Given the description of an element on the screen output the (x, y) to click on. 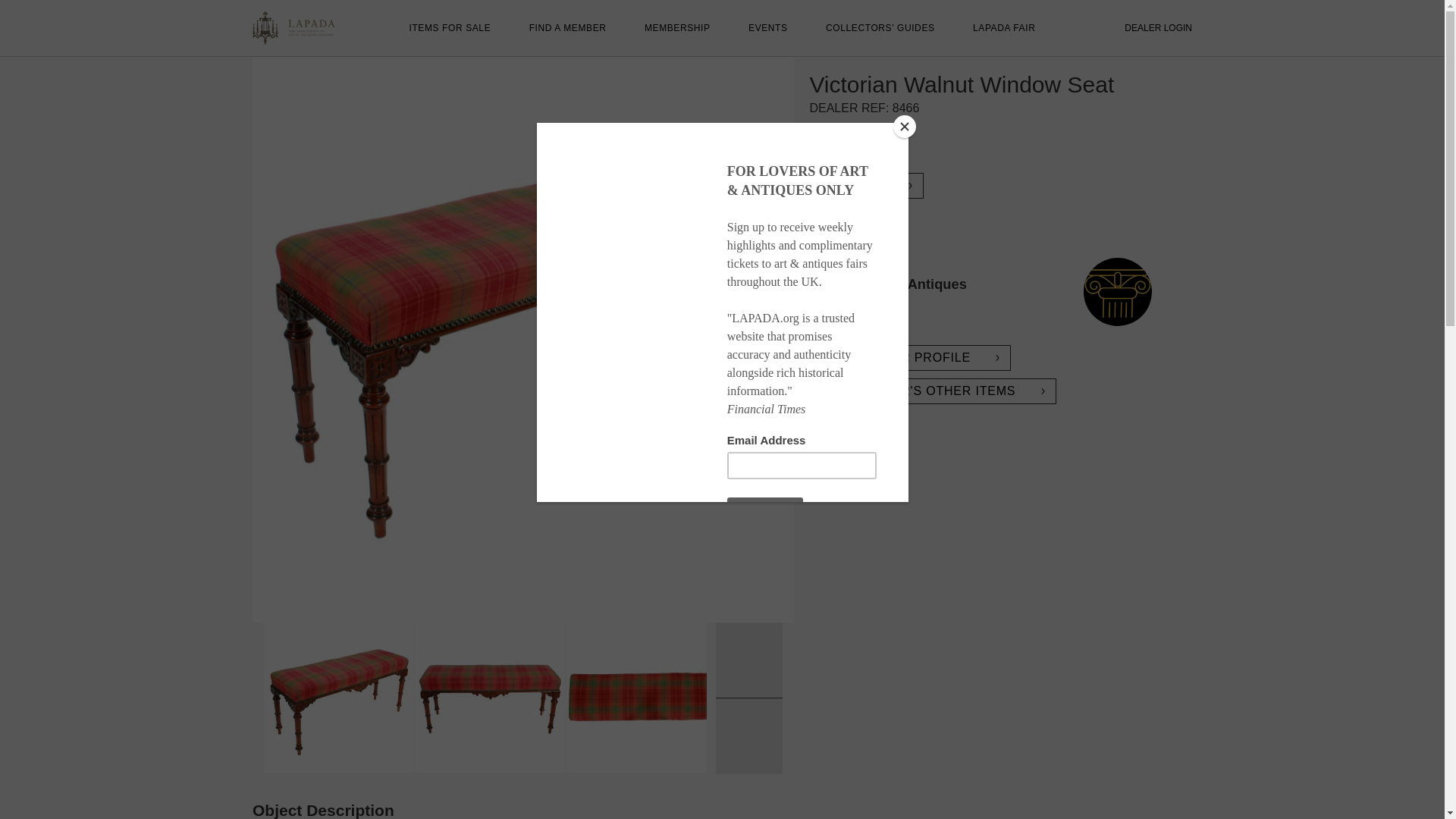
FIND A MEMBER (568, 27)
LAPADA FAIR (1003, 27)
DEALER LOGIN (1158, 27)
ITEMS FOR SALE (450, 27)
MEMBERSHIP (677, 27)
EVENTS (767, 27)
